Given the description of an element on the screen output the (x, y) to click on. 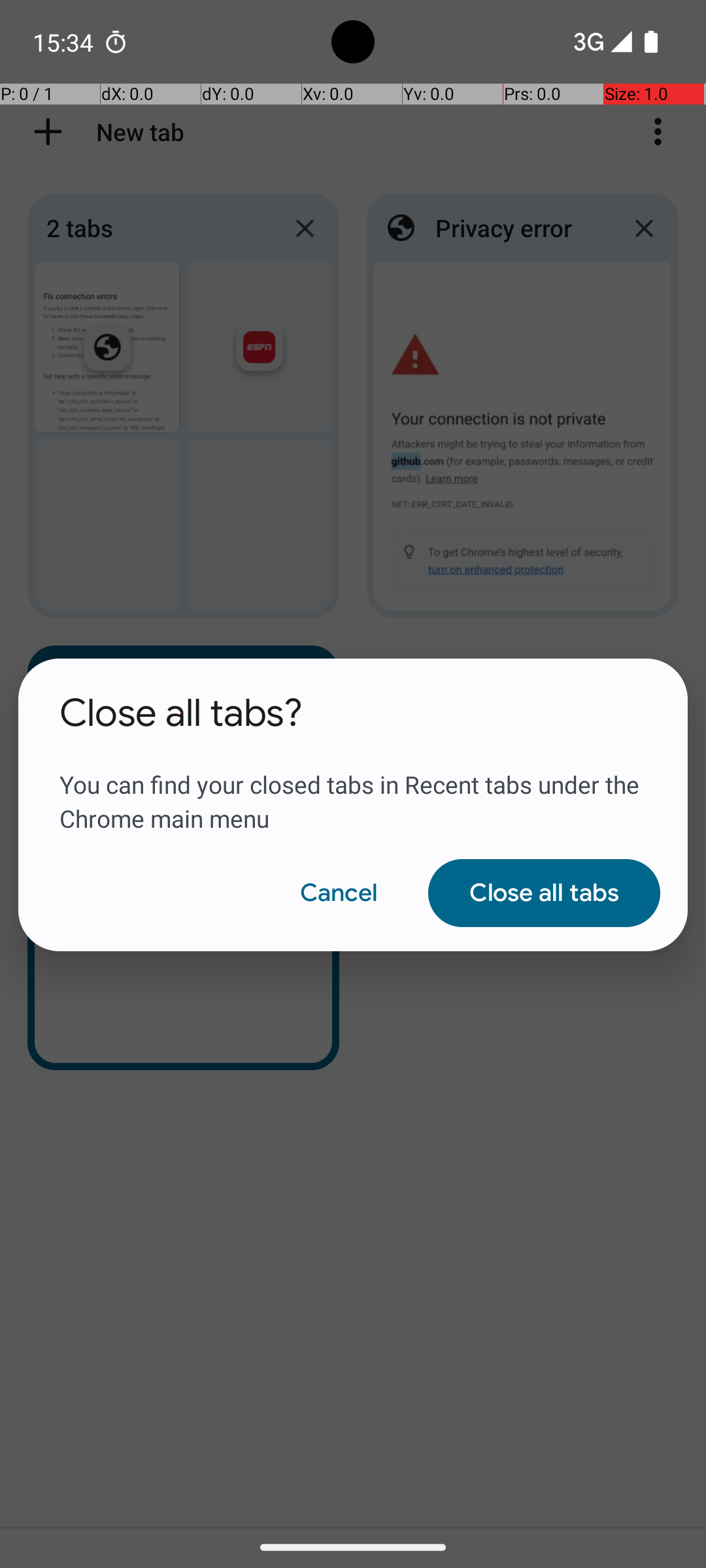
Close all tabs? Element type: android.widget.TextView (181, 712)
You can find your closed tabs in Recent tabs under the Chrome main menu Element type: android.widget.TextView (352, 785)
Close all tabs Element type: android.widget.Button (544, 892)
